Given the description of an element on the screen output the (x, y) to click on. 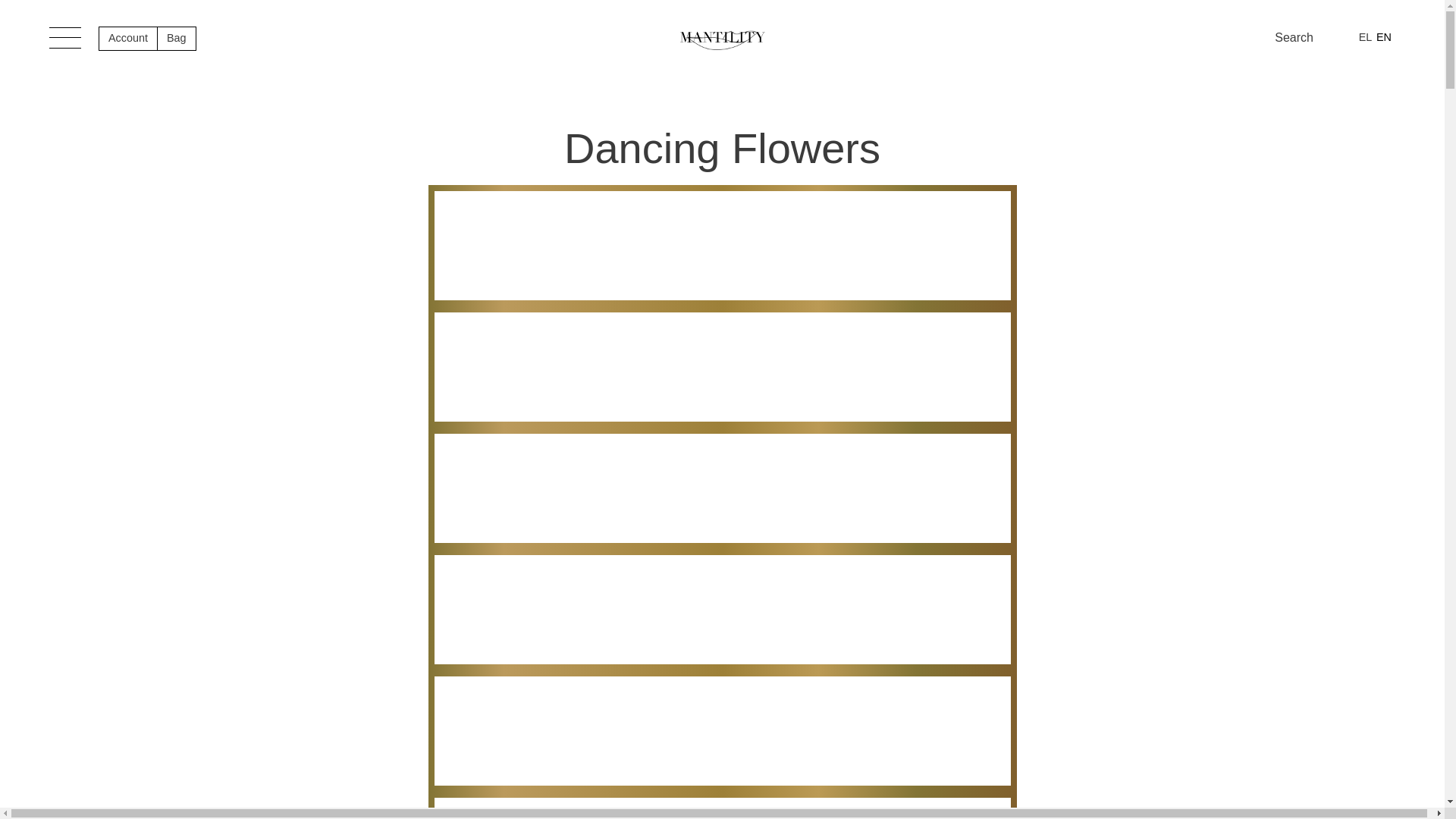
EL (1365, 37)
Account (128, 38)
Bag (176, 38)
EN (1383, 37)
